Given the description of an element on the screen output the (x, y) to click on. 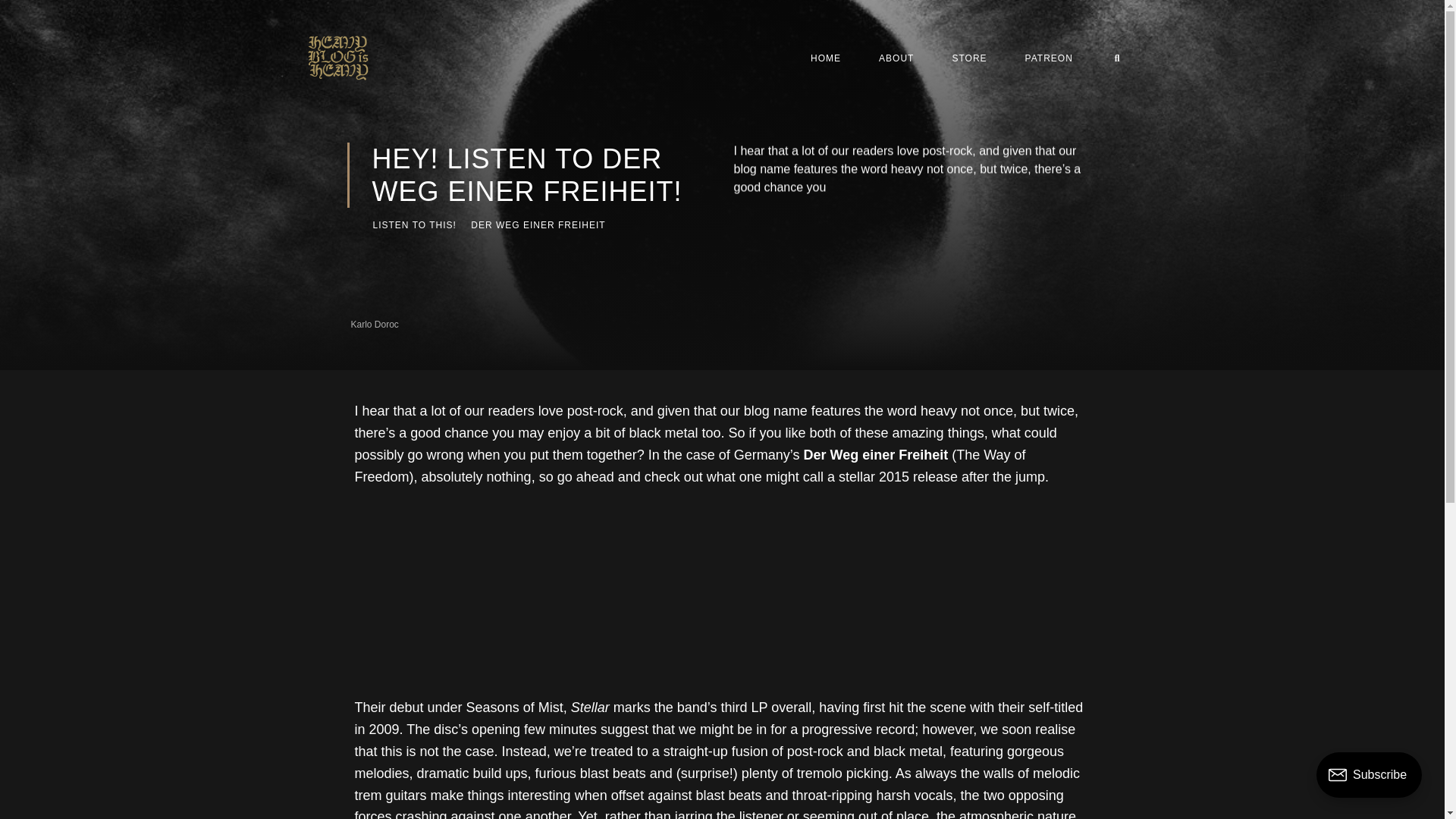
ABOUT (896, 58)
STORE (969, 58)
PATREON (1049, 58)
HOME (826, 58)
